Given the description of an element on the screen output the (x, y) to click on. 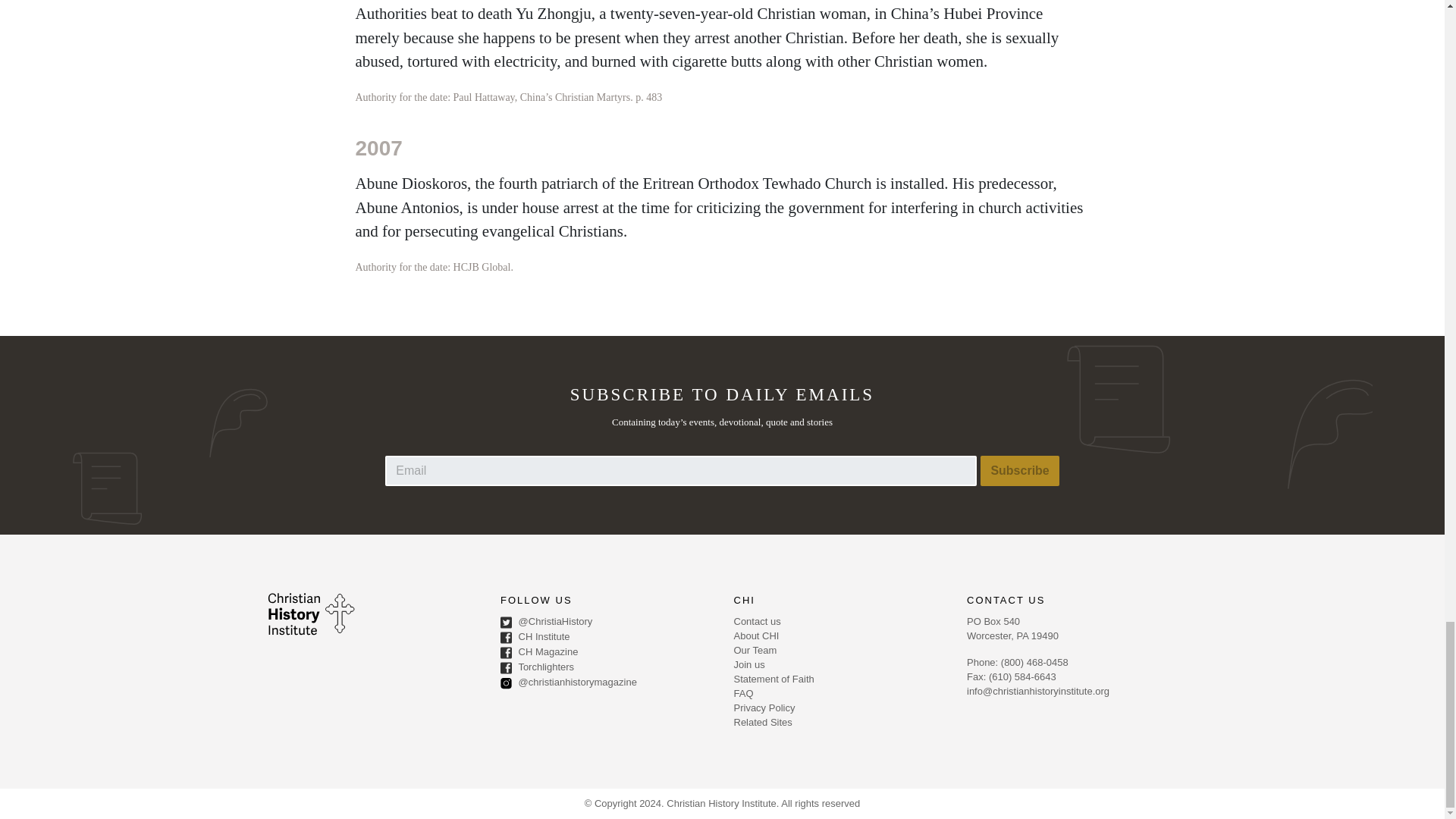
Subscribe (1018, 470)
